Given the description of an element on the screen output the (x, y) to click on. 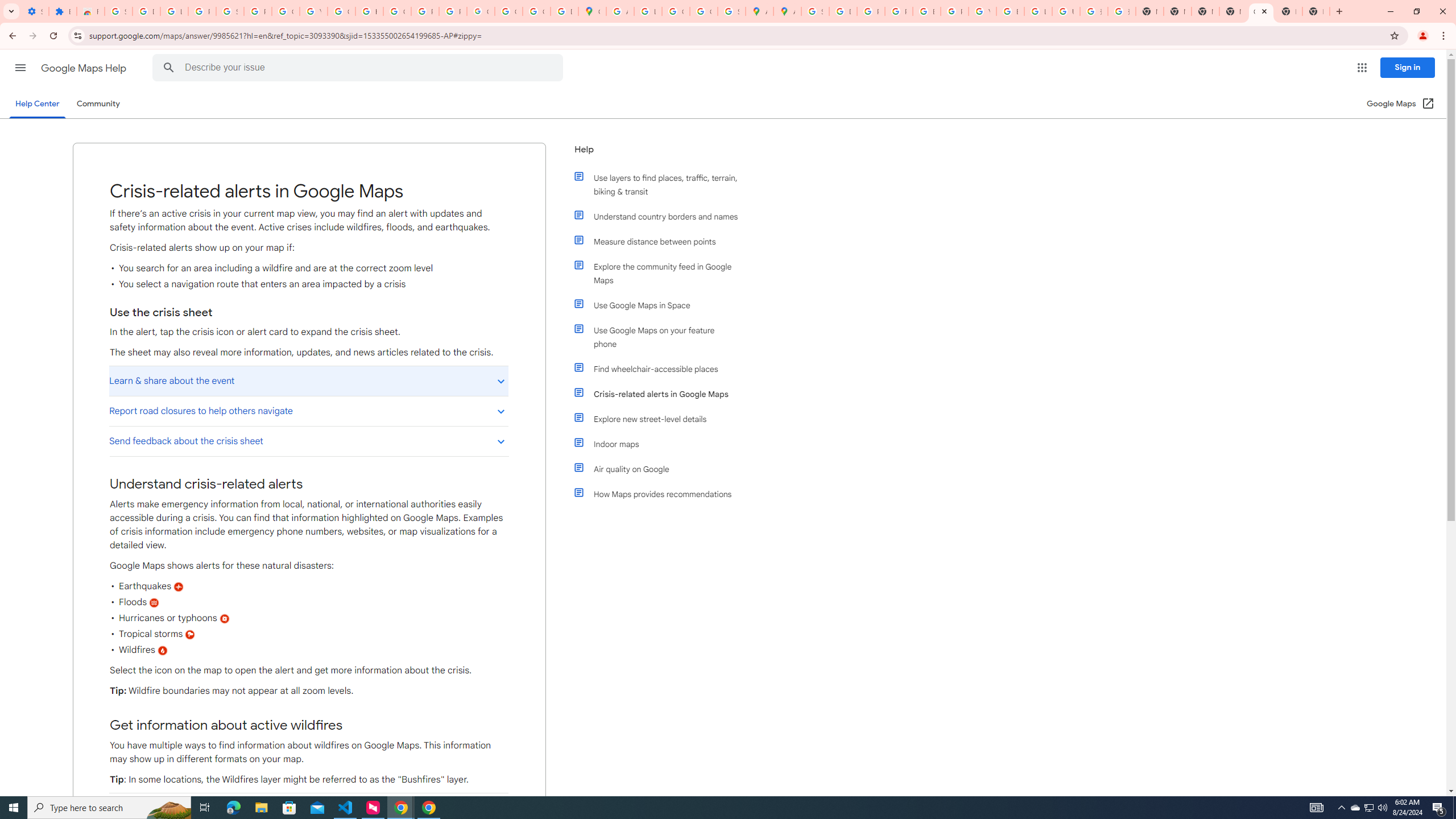
Find wheelchair-accessible places (661, 368)
Explore new street-level details (661, 419)
Google Account (285, 11)
Describe your issue (359, 67)
Air quality on Google (661, 469)
Report road closures to help others navigate (308, 410)
Sign in - Google Accounts (118, 11)
